Given the description of an element on the screen output the (x, y) to click on. 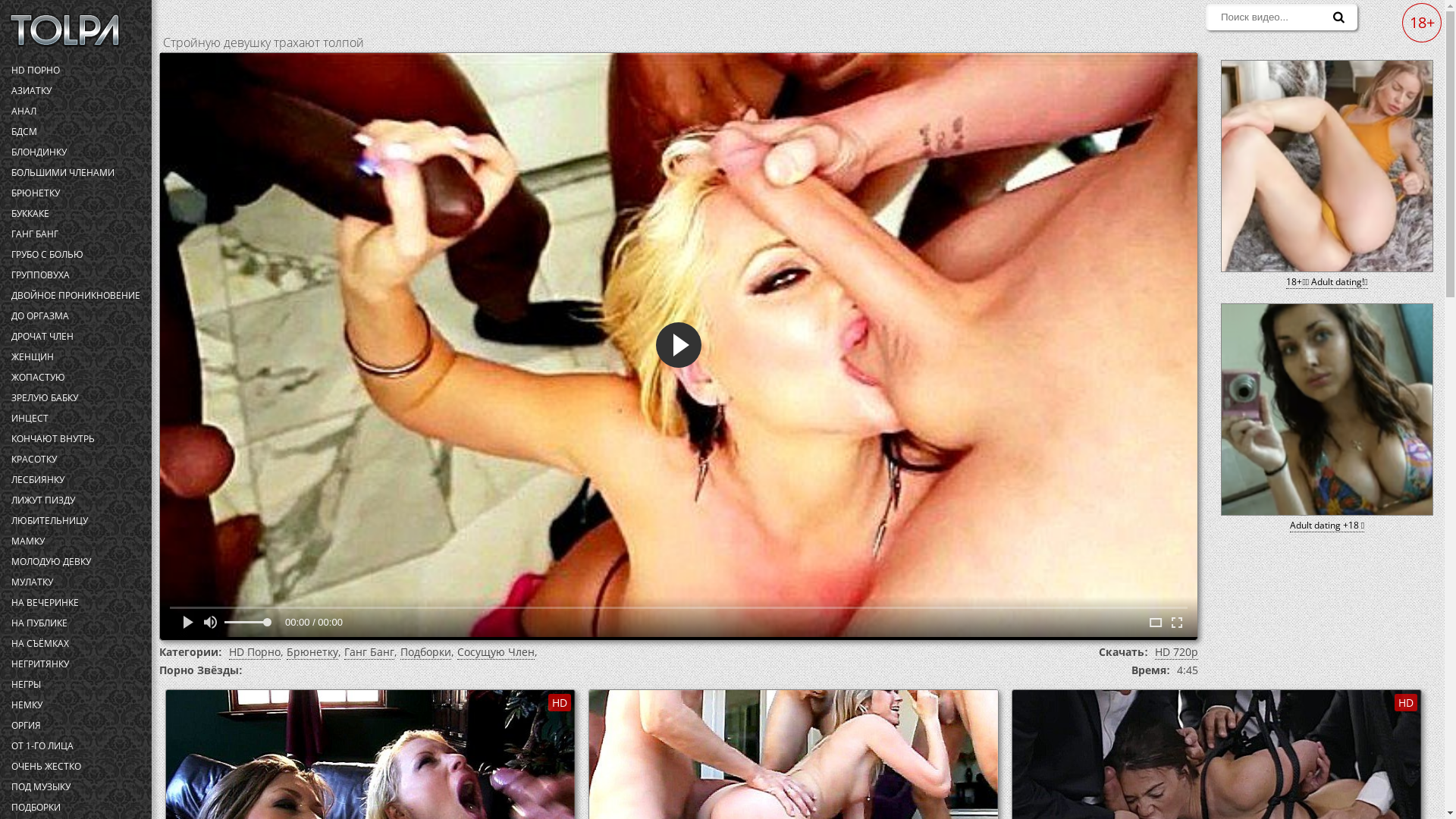
HD 720p Element type: text (1176, 651)
